Given the description of an element on the screen output the (x, y) to click on. 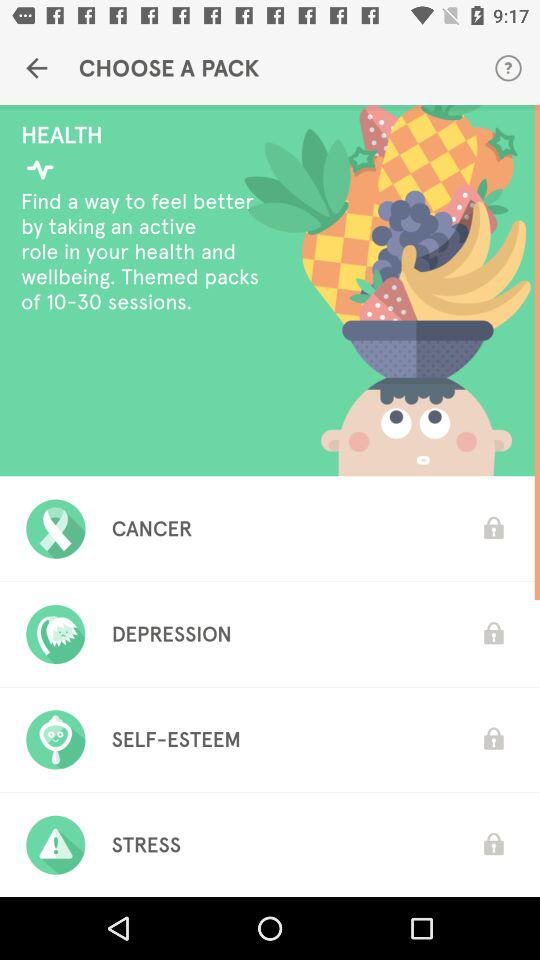
swipe to the cancer (151, 528)
